Given the description of an element on the screen output the (x, y) to click on. 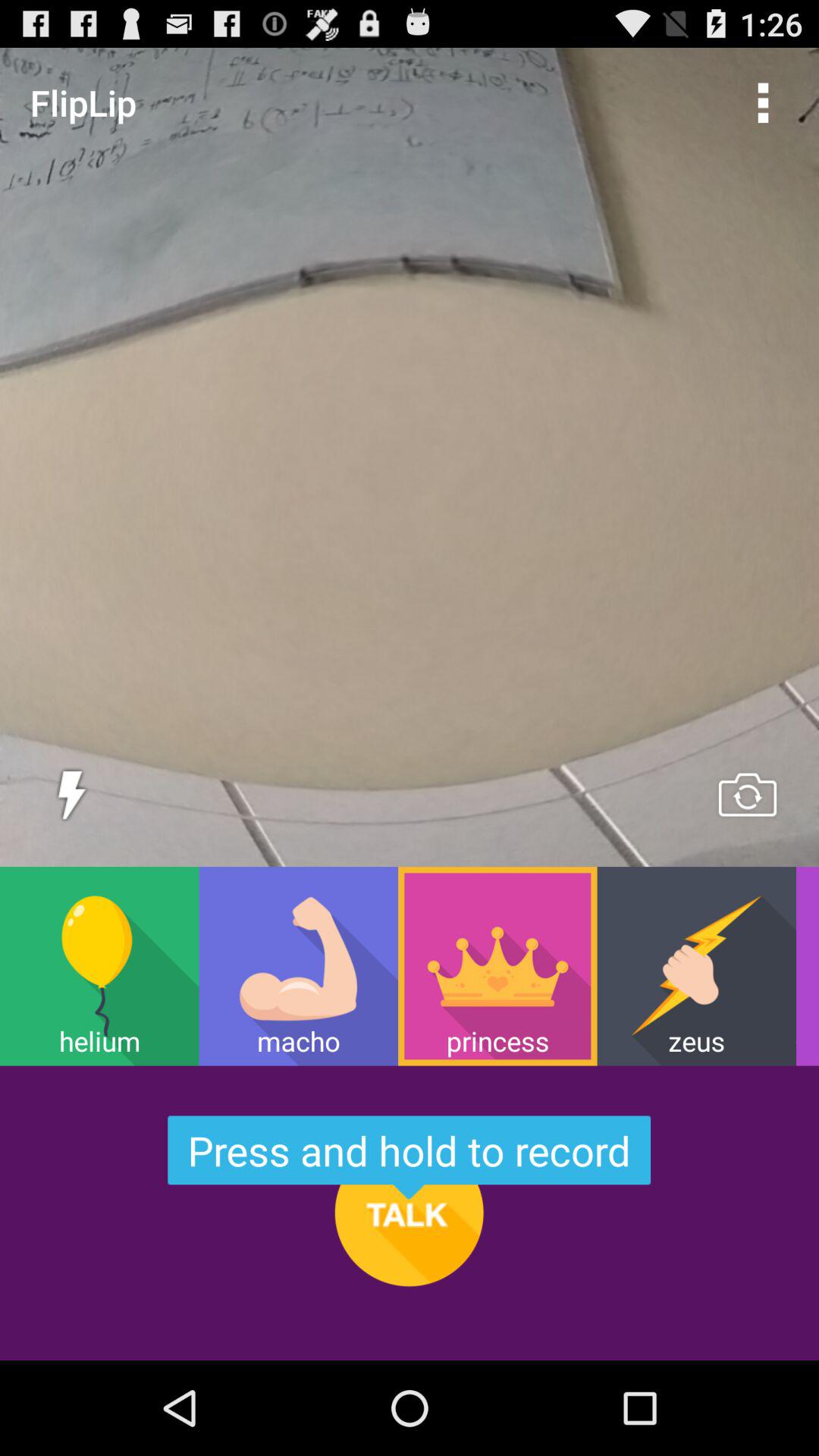
select the item next to macho (497, 965)
